Given the description of an element on the screen output the (x, y) to click on. 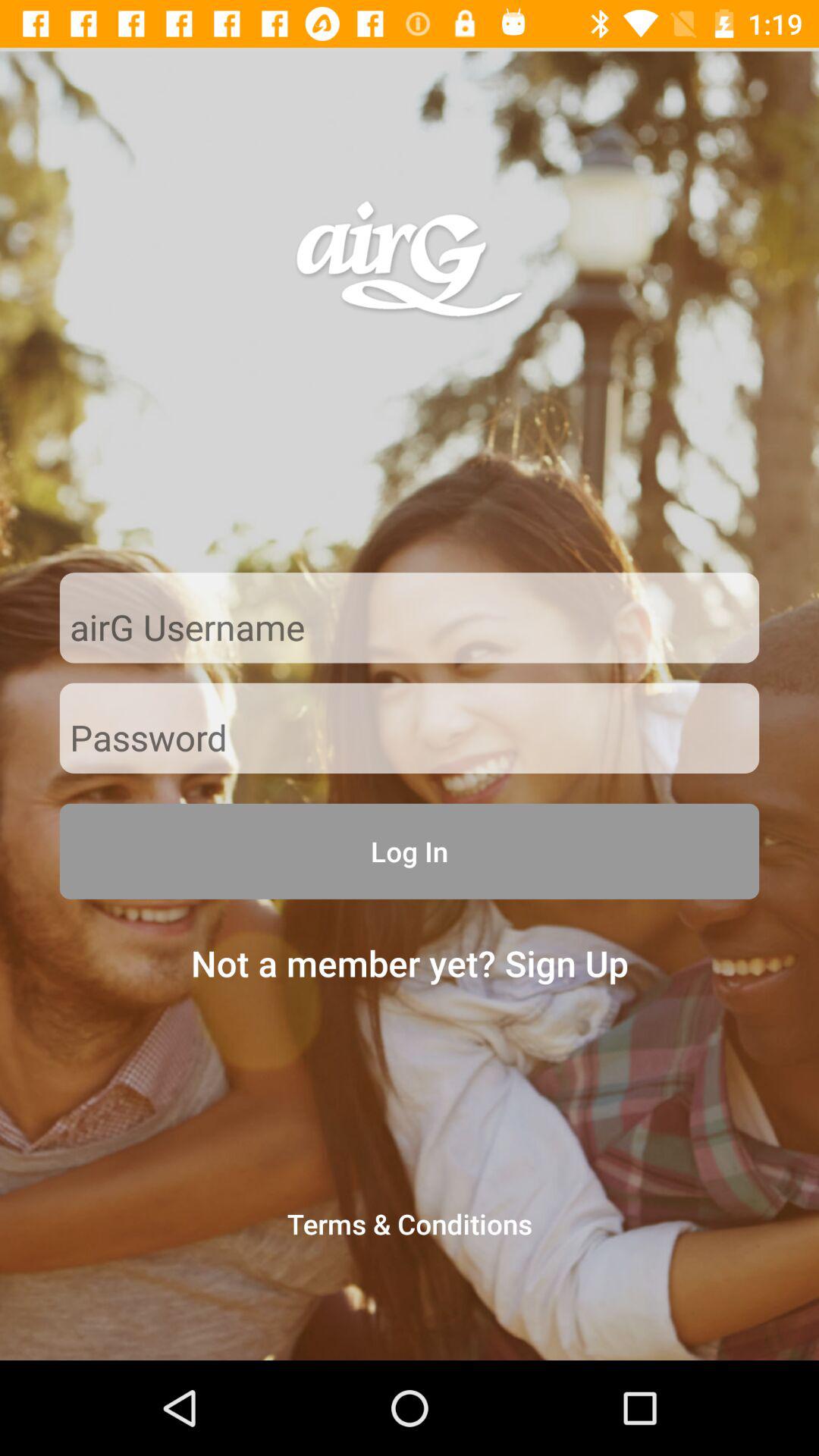
enter password (409, 738)
